Given the description of an element on the screen output the (x, y) to click on. 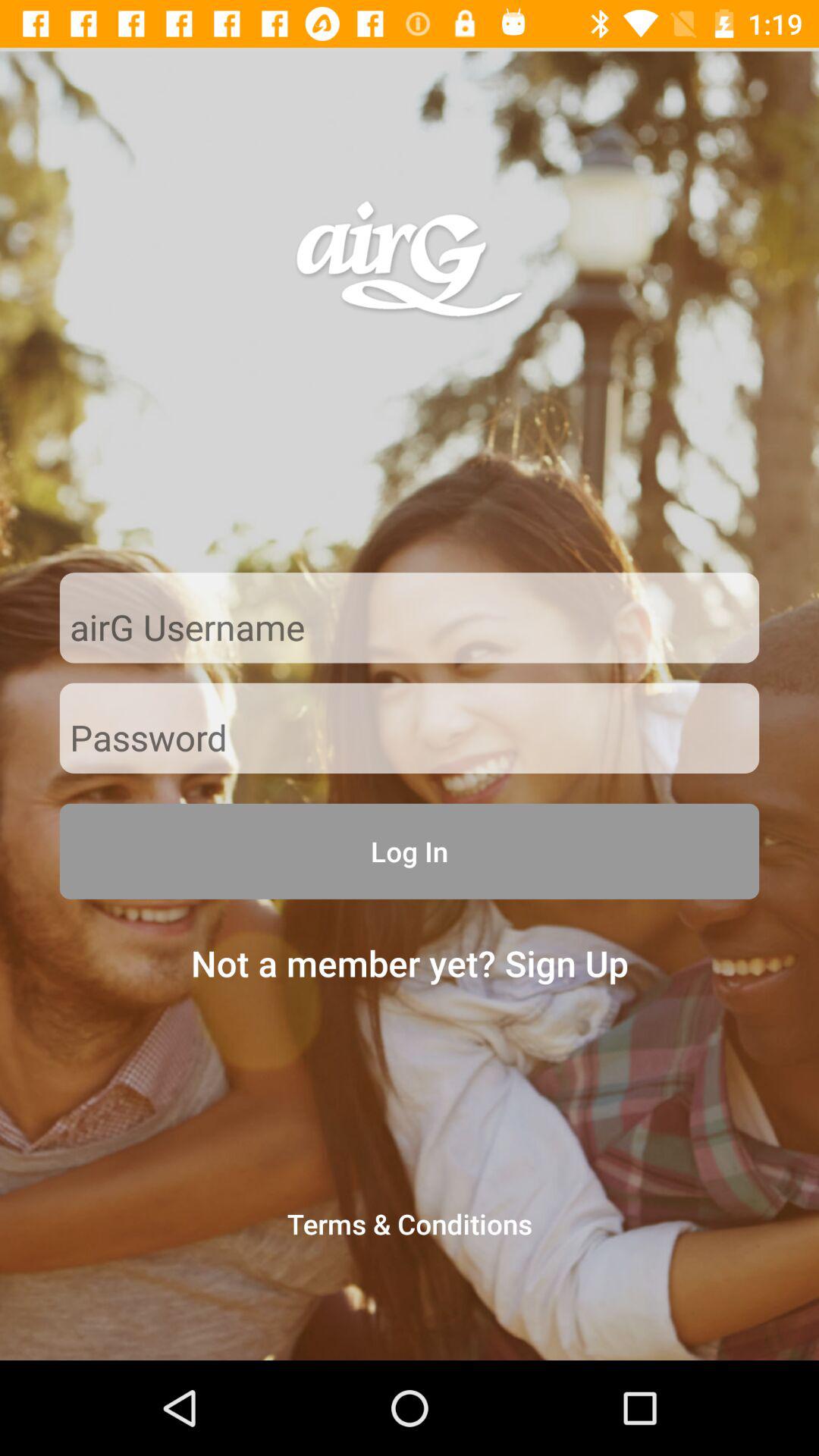
enter password (409, 738)
